Given the description of an element on the screen output the (x, y) to click on. 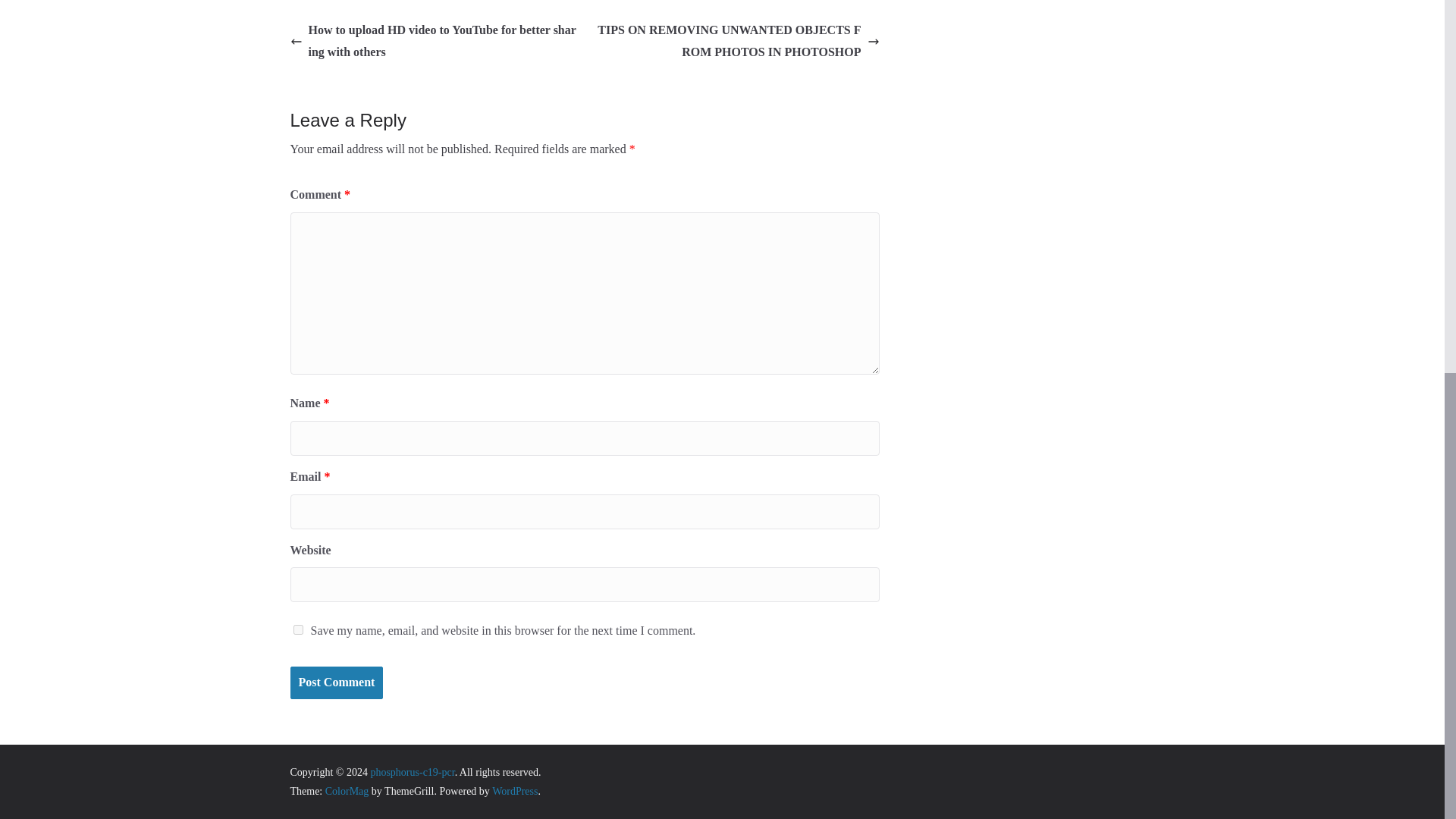
ColorMag (346, 790)
Post Comment (335, 682)
Post Comment (335, 682)
yes (297, 629)
ColorMag (346, 790)
TIPS ON REMOVING UNWANTED OBJECTS FROM PHOTOS IN PHOTOSHOP (735, 41)
WordPress (514, 790)
phosphorus-c19-pcr (411, 772)
phosphorus-c19-pcr (411, 772)
